Given the description of an element on the screen output the (x, y) to click on. 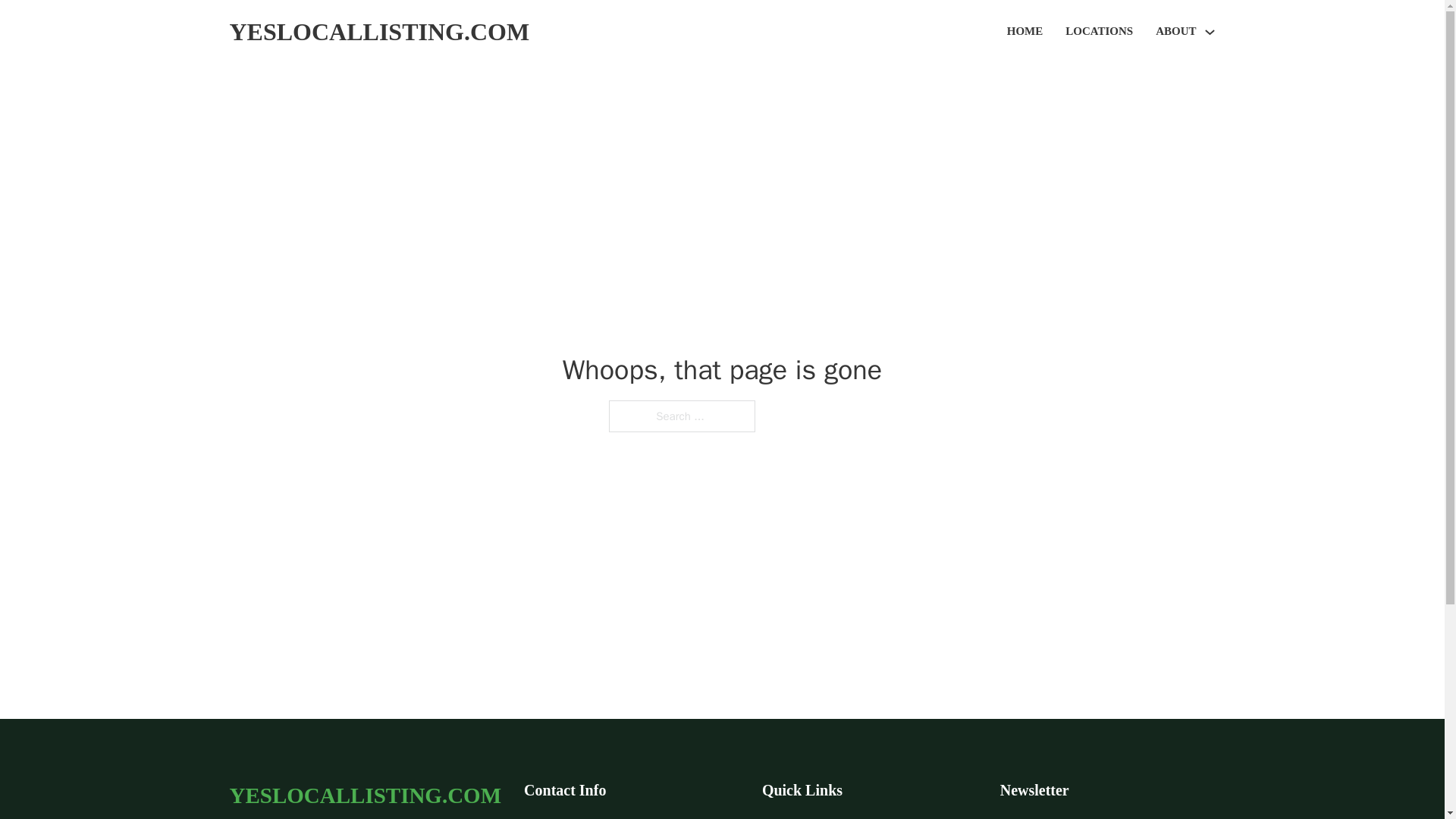
LOCATIONS (1098, 31)
HOME (1025, 31)
YESLOCALLISTING.COM (378, 31)
YESLOCALLISTING.COM (364, 795)
